Given the description of an element on the screen output the (x, y) to click on. 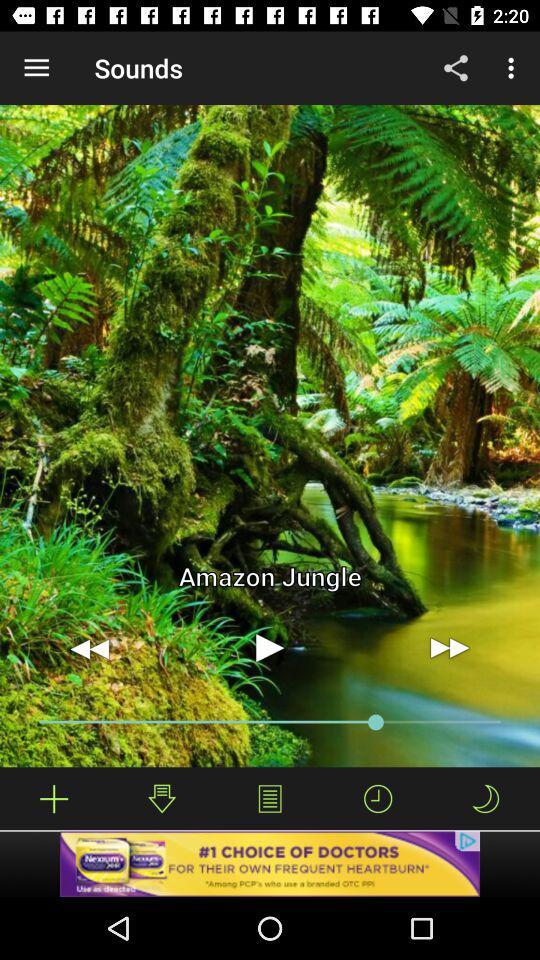
open timers/alarms (378, 798)
